Given the description of an element on the screen output the (x, y) to click on. 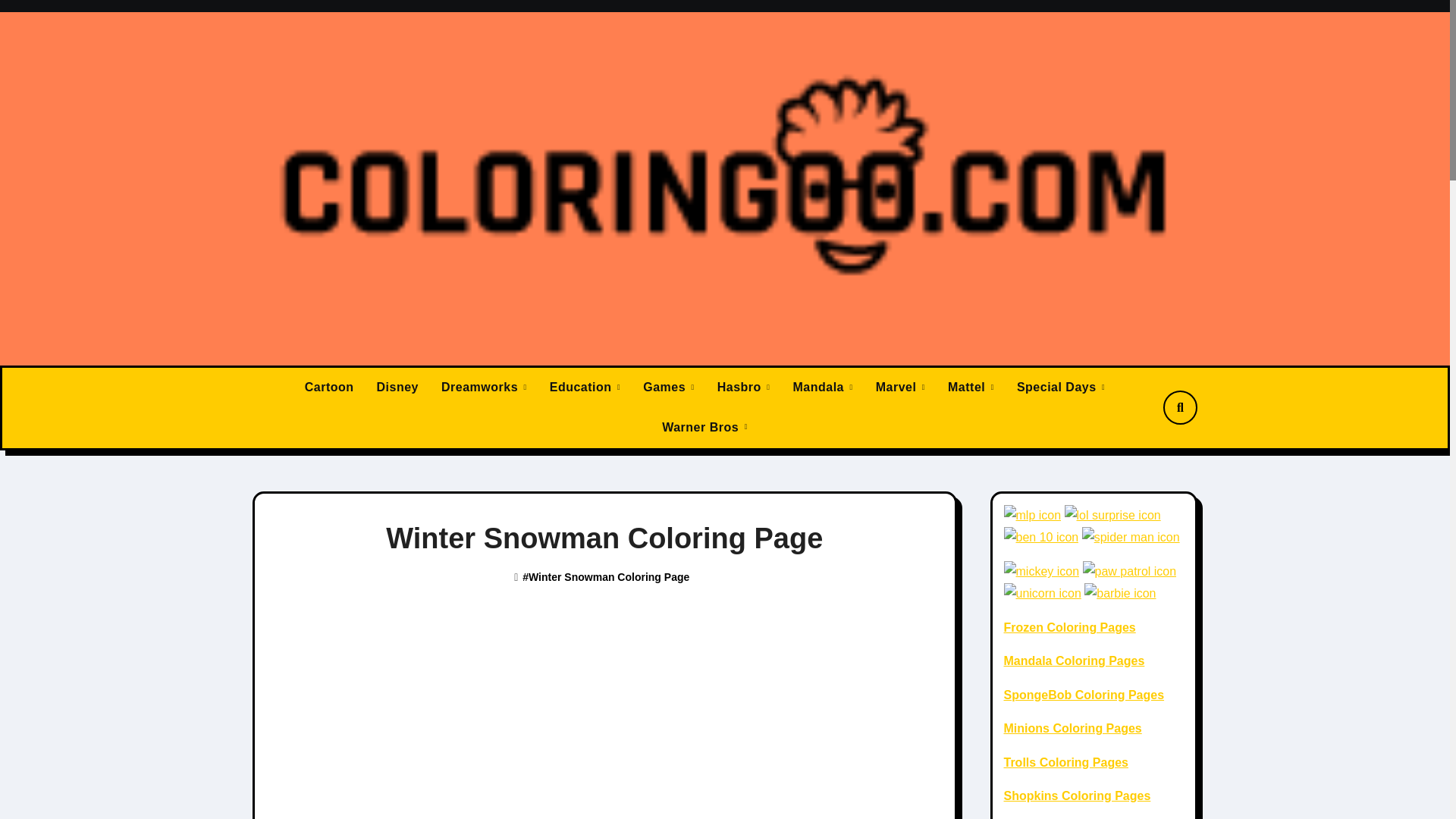
Disney (397, 387)
Disney (397, 387)
Dreamworks (483, 387)
Cartoon (329, 387)
Games (668, 387)
Dreamworks (483, 387)
Cartoon (329, 387)
Education (584, 387)
Education (584, 387)
